Given the description of an element on the screen output the (x, y) to click on. 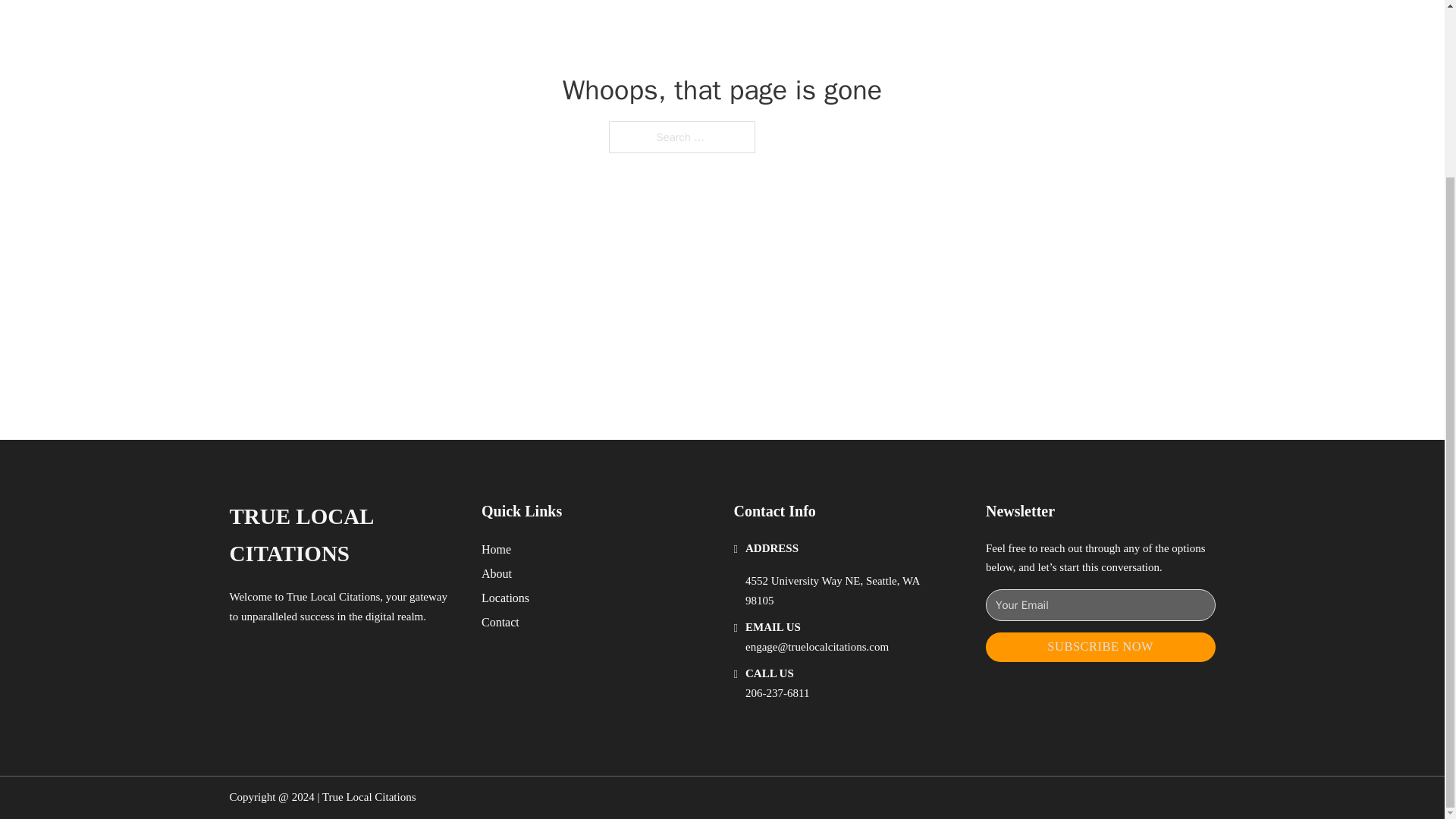
Home (496, 548)
Contact (500, 621)
TRUE LOCAL CITATIONS (343, 535)
SUBSCRIBE NOW (1100, 646)
About (496, 573)
Locations (505, 598)
206-237-6811 (777, 693)
